Given the description of an element on the screen output the (x, y) to click on. 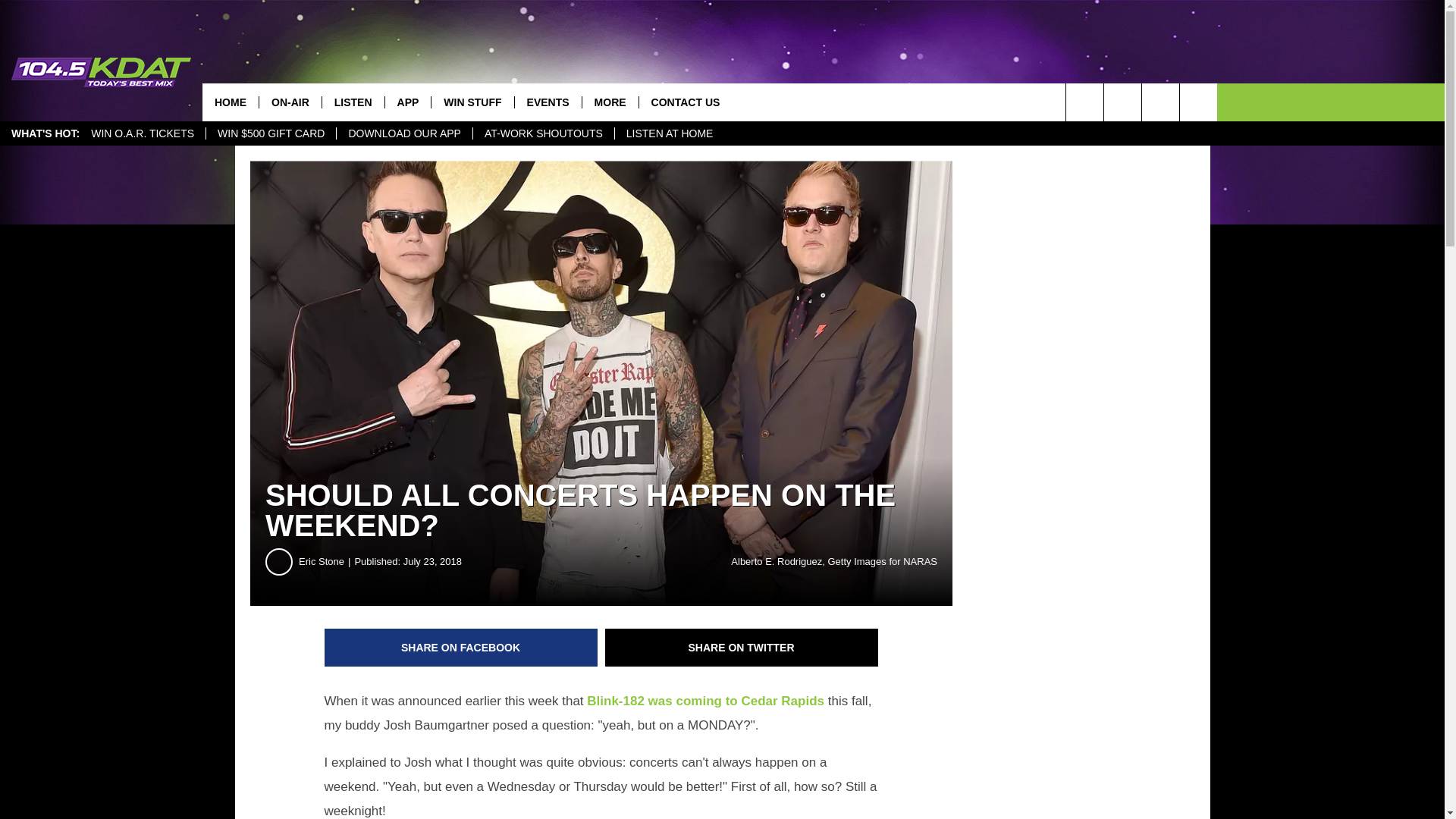
HOME (230, 102)
ON-AIR (290, 102)
DOWNLOAD OUR APP (403, 133)
LISTEN (352, 102)
CONTACT US (685, 102)
Share on Twitter (741, 647)
Share on Facebook (460, 647)
MORE (609, 102)
WIN O.A.R. TICKETS (142, 133)
EVENTS (546, 102)
